Given the description of an element on the screen output the (x, y) to click on. 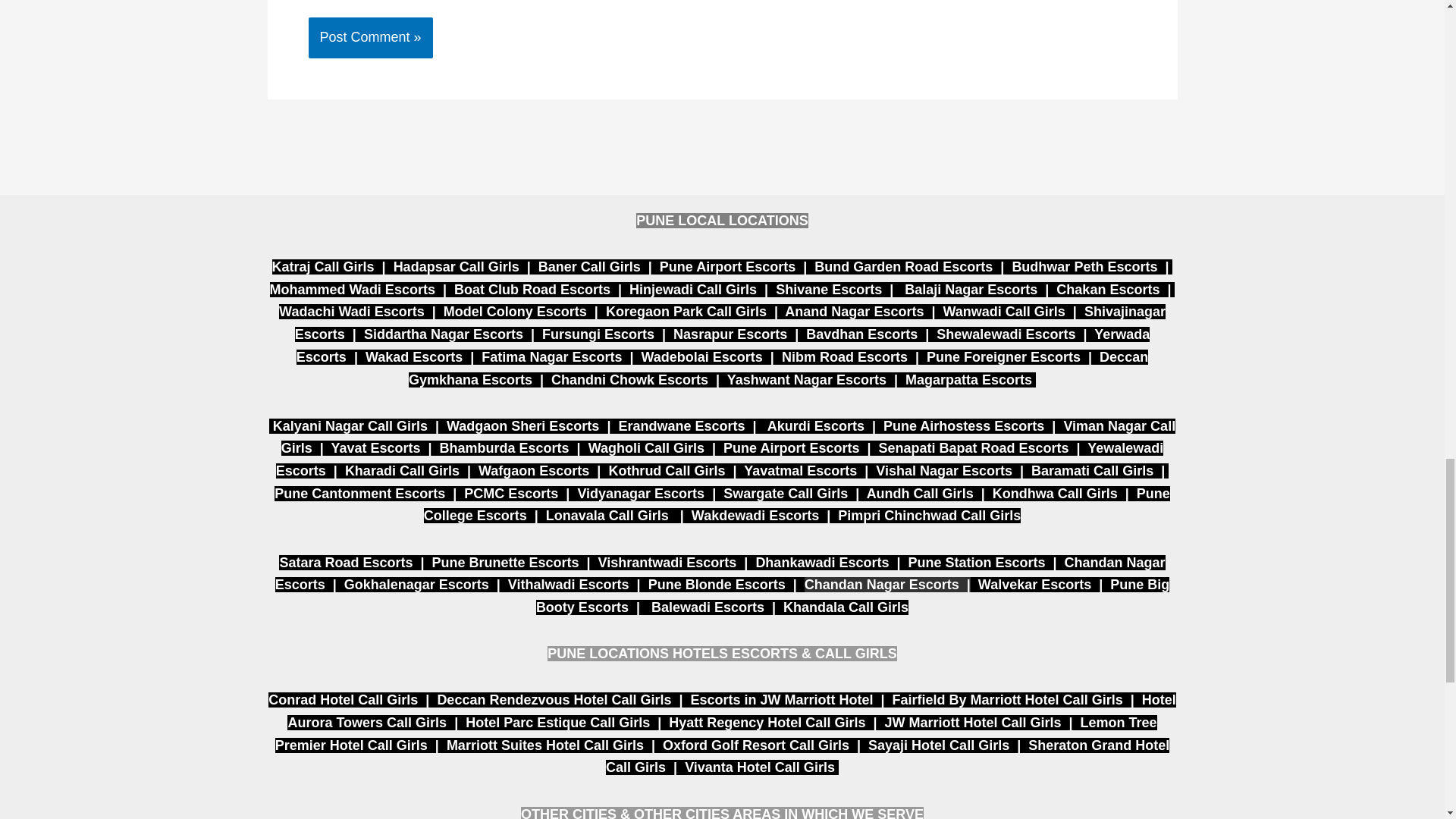
Koregaon Park Call Girls (686, 311)
Pune Airport Escorts (726, 266)
Hadapsar Call Girls (456, 266)
Siddartha Nagar Escorts (443, 334)
Boat Club Road Escorts (532, 289)
Wadachi Wadi Escorts (352, 311)
Anand Nagar Escorts (853, 311)
Chakan Escorts (1107, 289)
Mohammed Wadi Escorts (352, 289)
Katraj Call Girls   (326, 266)
